Given the description of an element on the screen output the (x, y) to click on. 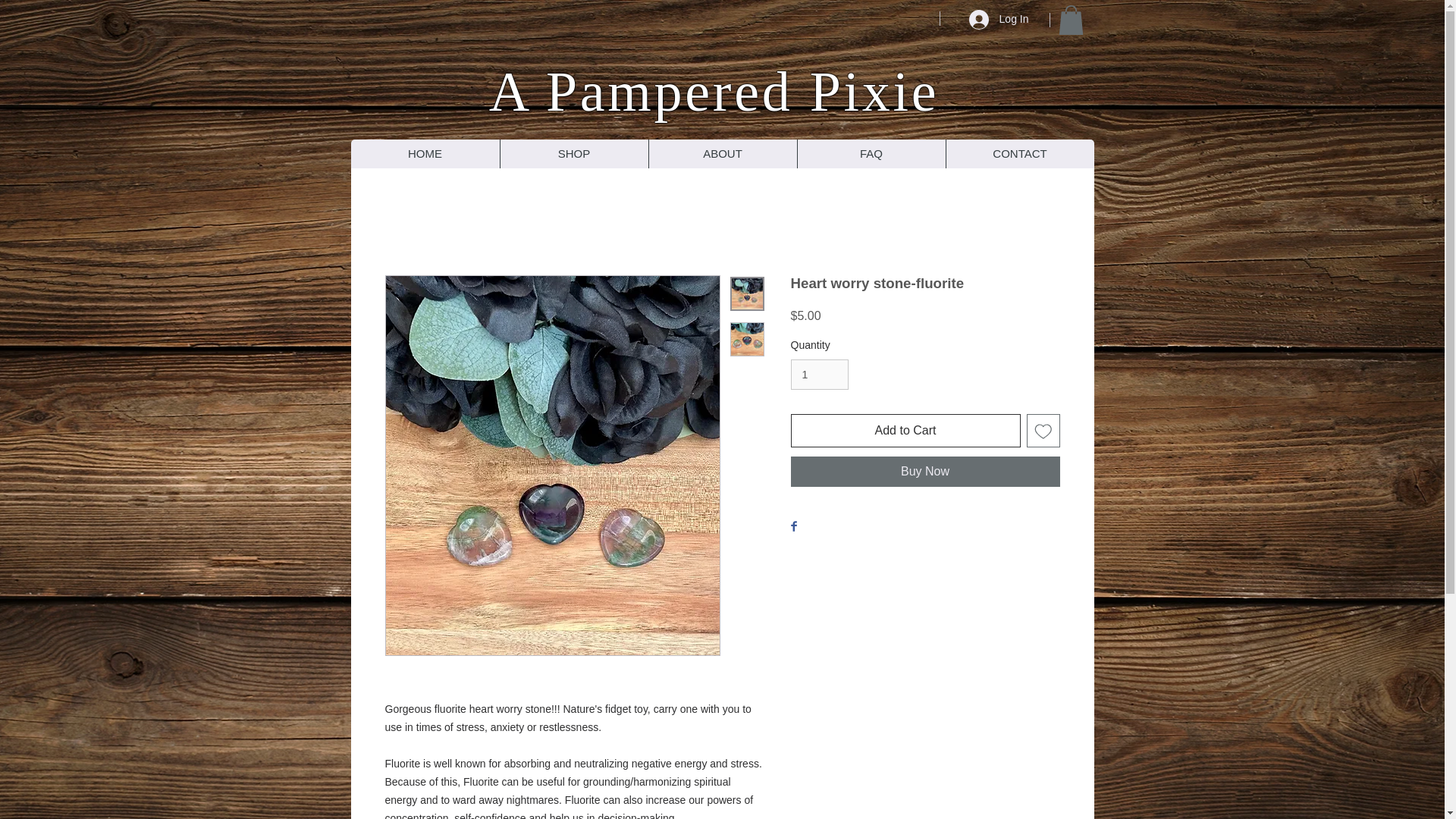
Add to Cart (905, 430)
1 (818, 374)
HOME (424, 153)
SHOP (573, 153)
Buy Now (924, 471)
FAQ (870, 153)
Log In (998, 19)
ABOUT (721, 153)
A Pampered Pixie (714, 91)
CONTACT (1018, 153)
